Given the description of an element on the screen output the (x, y) to click on. 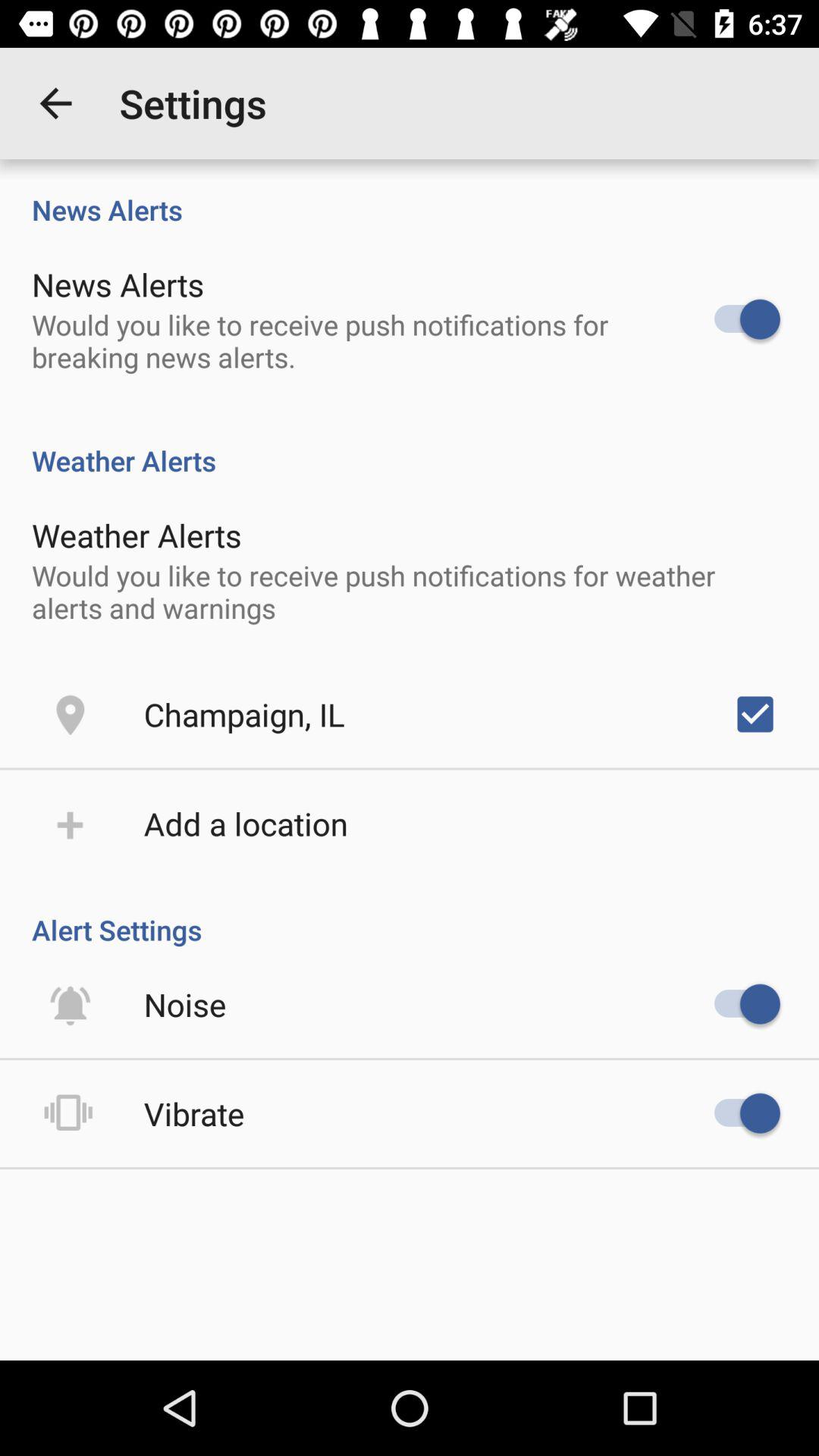
select the icon above the vibrate (184, 1004)
